Given the description of an element on the screen output the (x, y) to click on. 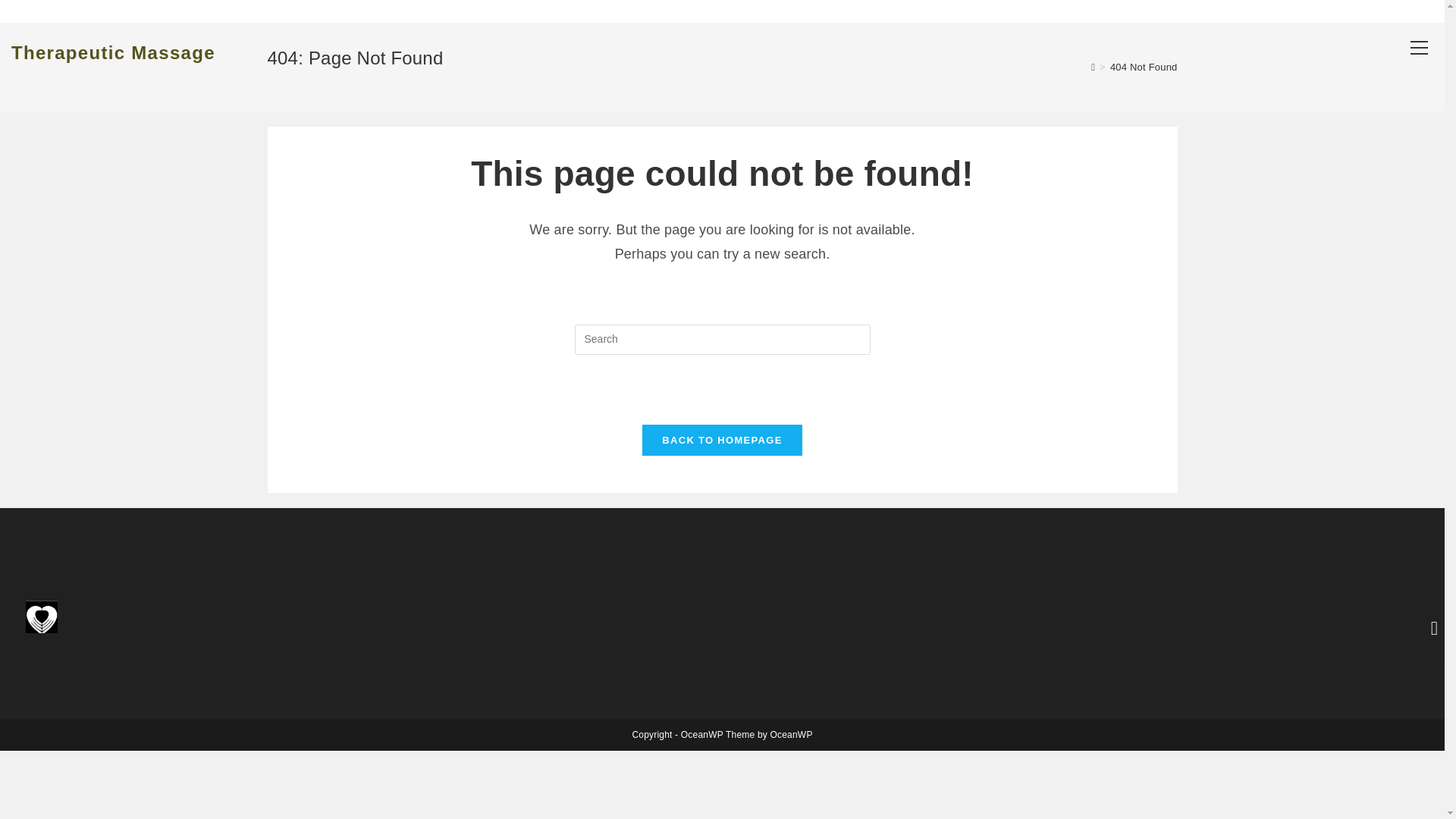
404 Not Found (1143, 66)
Therapeutic Massage (113, 52)
BACK TO HOMEPAGE (722, 440)
